Given the description of an element on the screen output the (x, y) to click on. 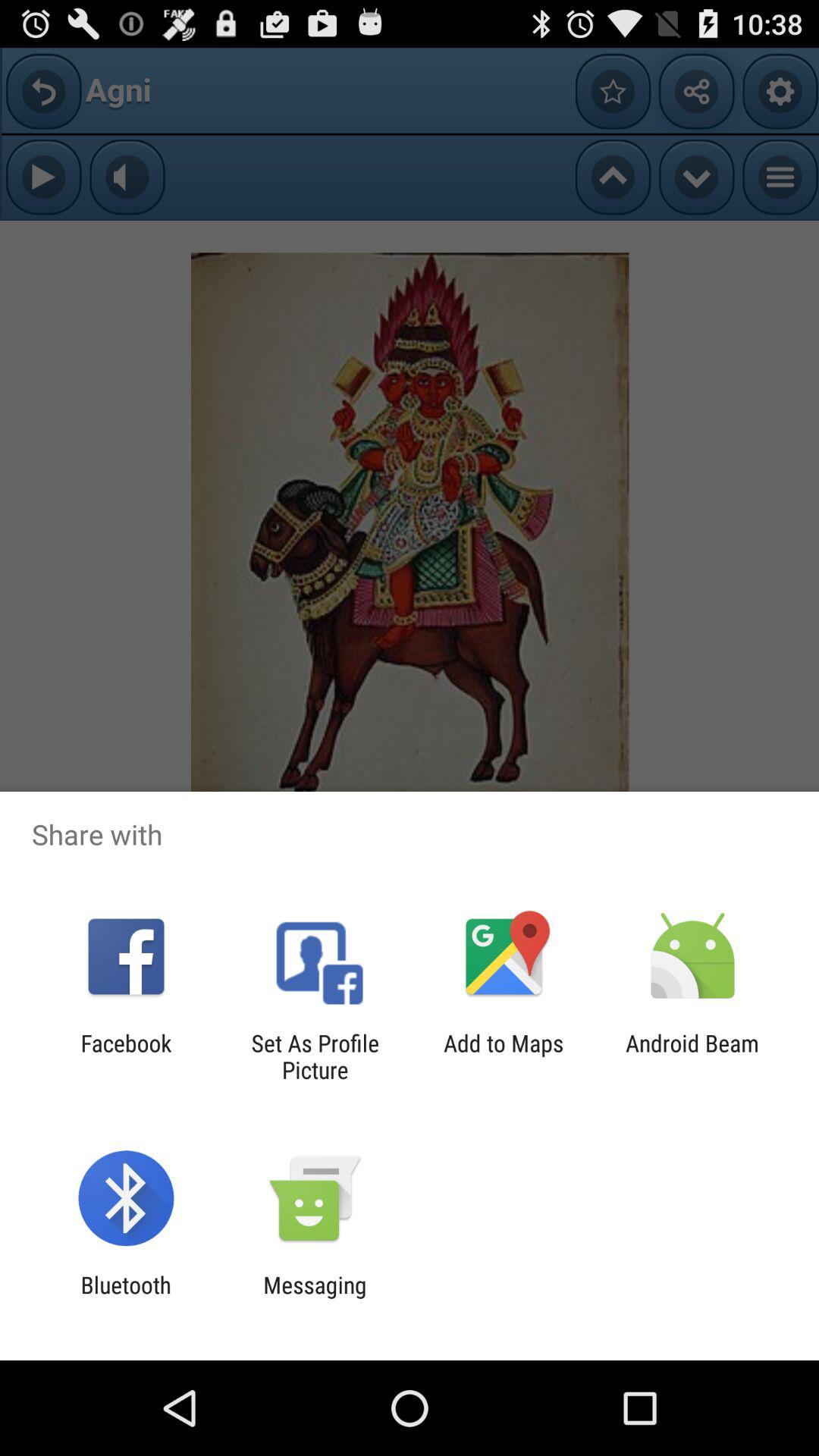
click the app at the bottom right corner (692, 1056)
